Given the description of an element on the screen output the (x, y) to click on. 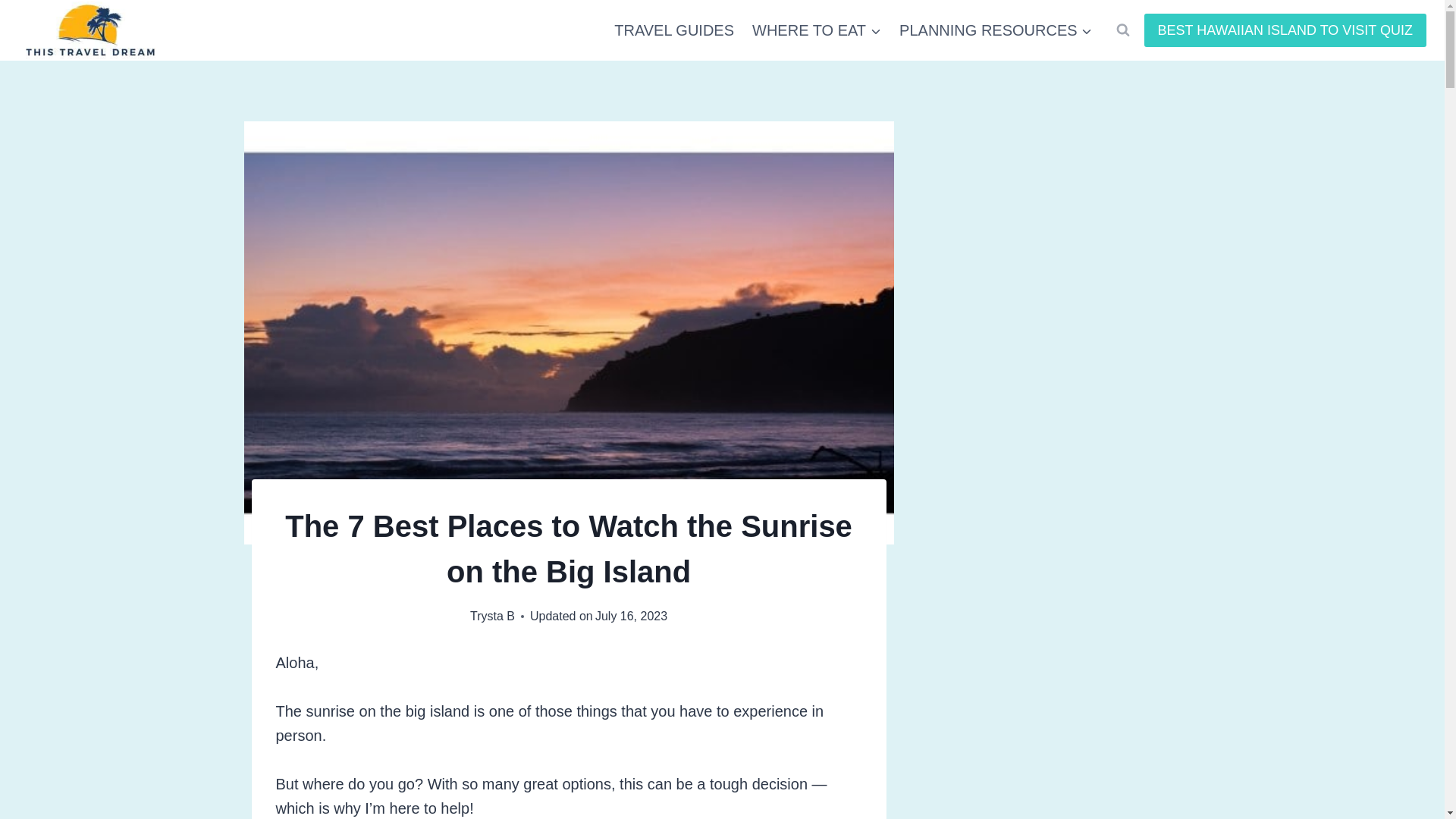
BEST HAWAIIAN ISLAND TO VISIT QUIZ (1285, 29)
TRAVEL GUIDES (673, 30)
PLANNING RESOURCES (995, 30)
WHERE TO EAT (815, 30)
